Given the description of an element on the screen output the (x, y) to click on. 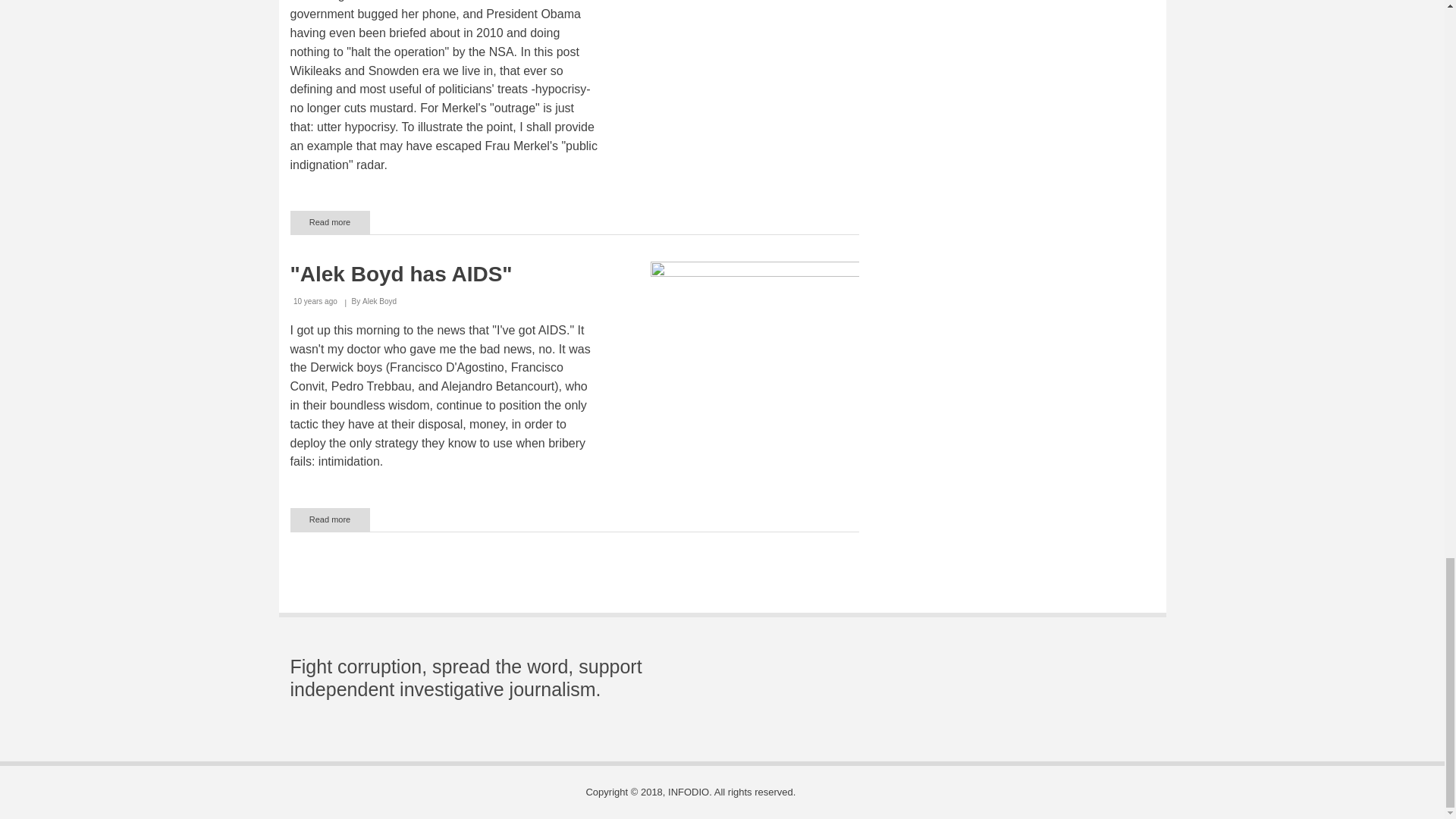
"Alek Boyd has AIDS" (329, 519)
